Given the description of an element on the screen output the (x, y) to click on. 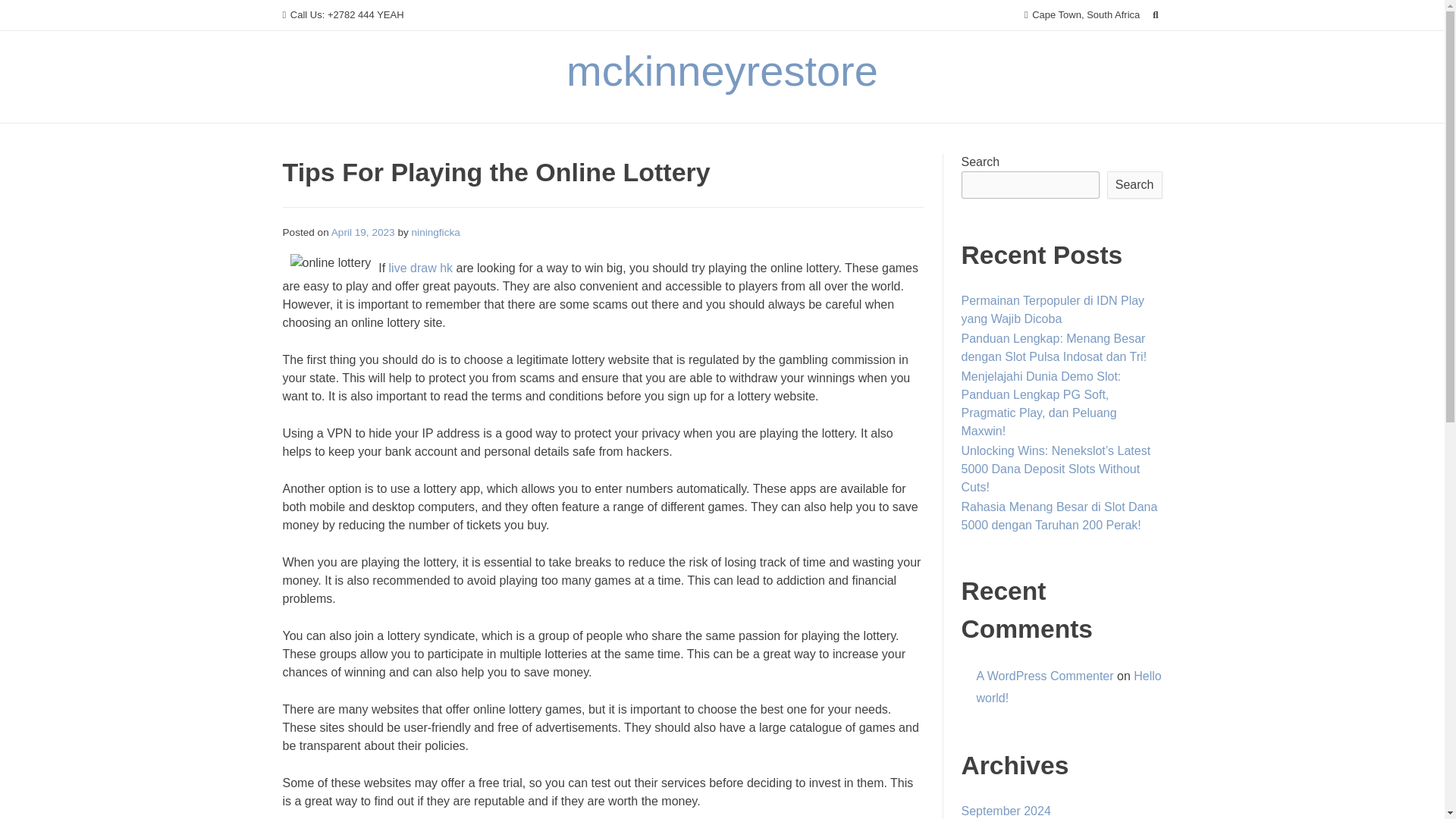
September 2024 (1005, 810)
Search (27, 13)
Hello world! (1068, 686)
Permainan Terpopuler di IDN Play yang Wajib Dicoba (1052, 309)
Search (1133, 185)
April 19, 2023 (362, 232)
live draw hk (420, 267)
mckinneyrestore (721, 70)
A WordPress Commenter (1044, 675)
